Given the description of an element on the screen output the (x, y) to click on. 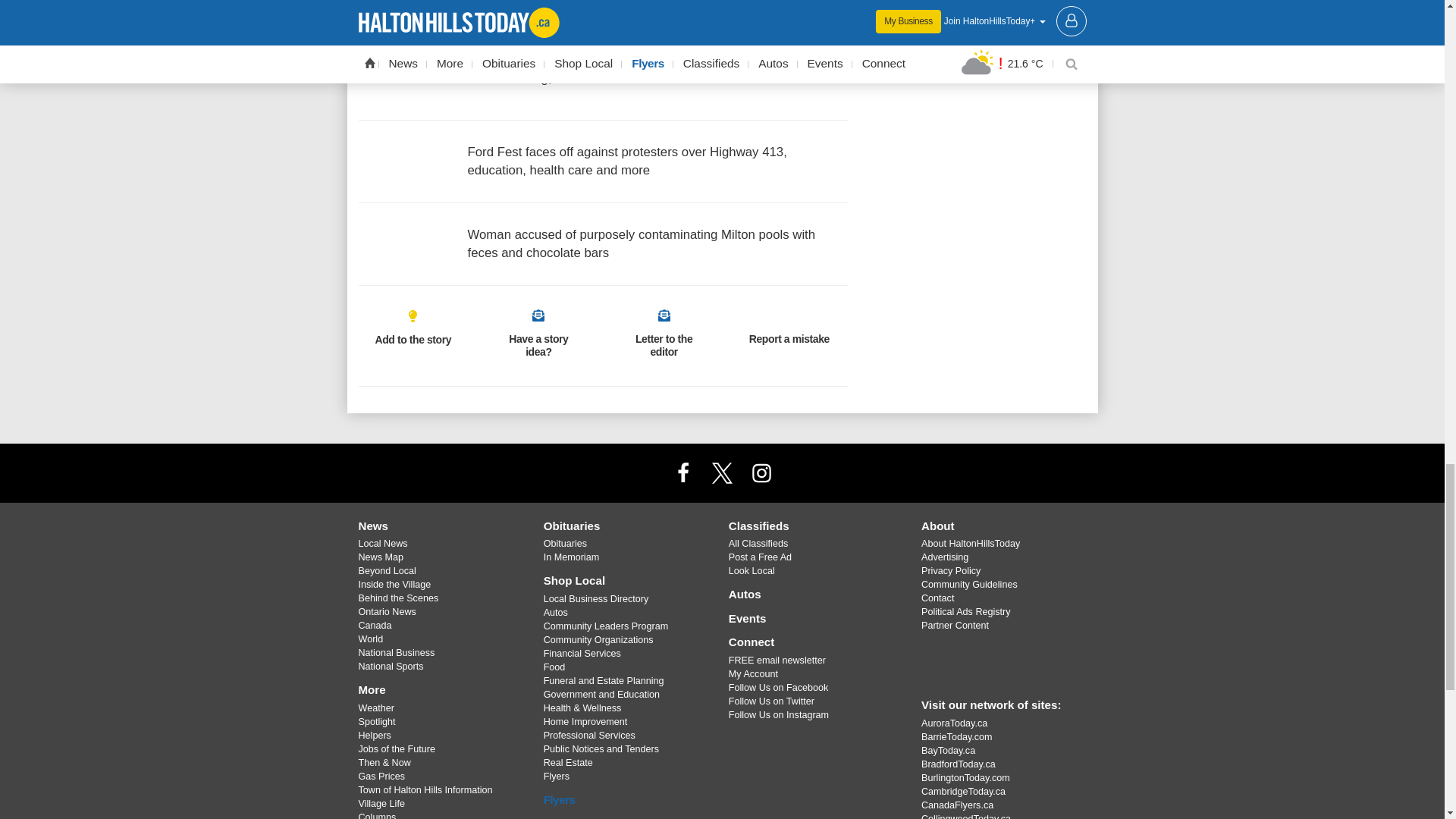
Instagram (760, 471)
Facebook (683, 471)
X (721, 471)
